Given the description of an element on the screen output the (x, y) to click on. 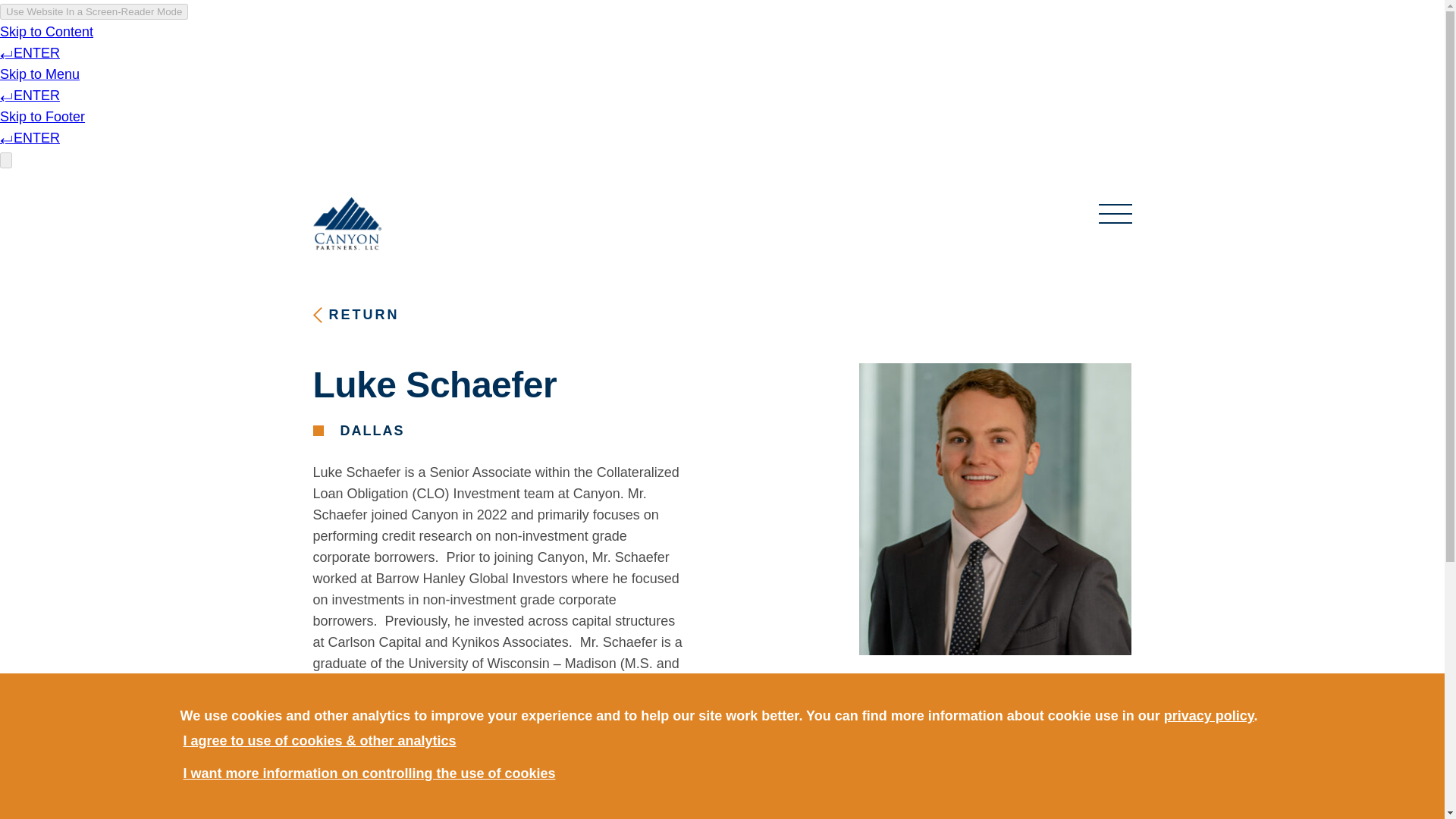
PREVIOUS (909, 693)
privacy policy (1208, 715)
Canyon Partners, LLC (346, 207)
Menu Button (1114, 213)
RETURN (355, 314)
NEXT (1099, 693)
